Given the description of an element on the screen output the (x, y) to click on. 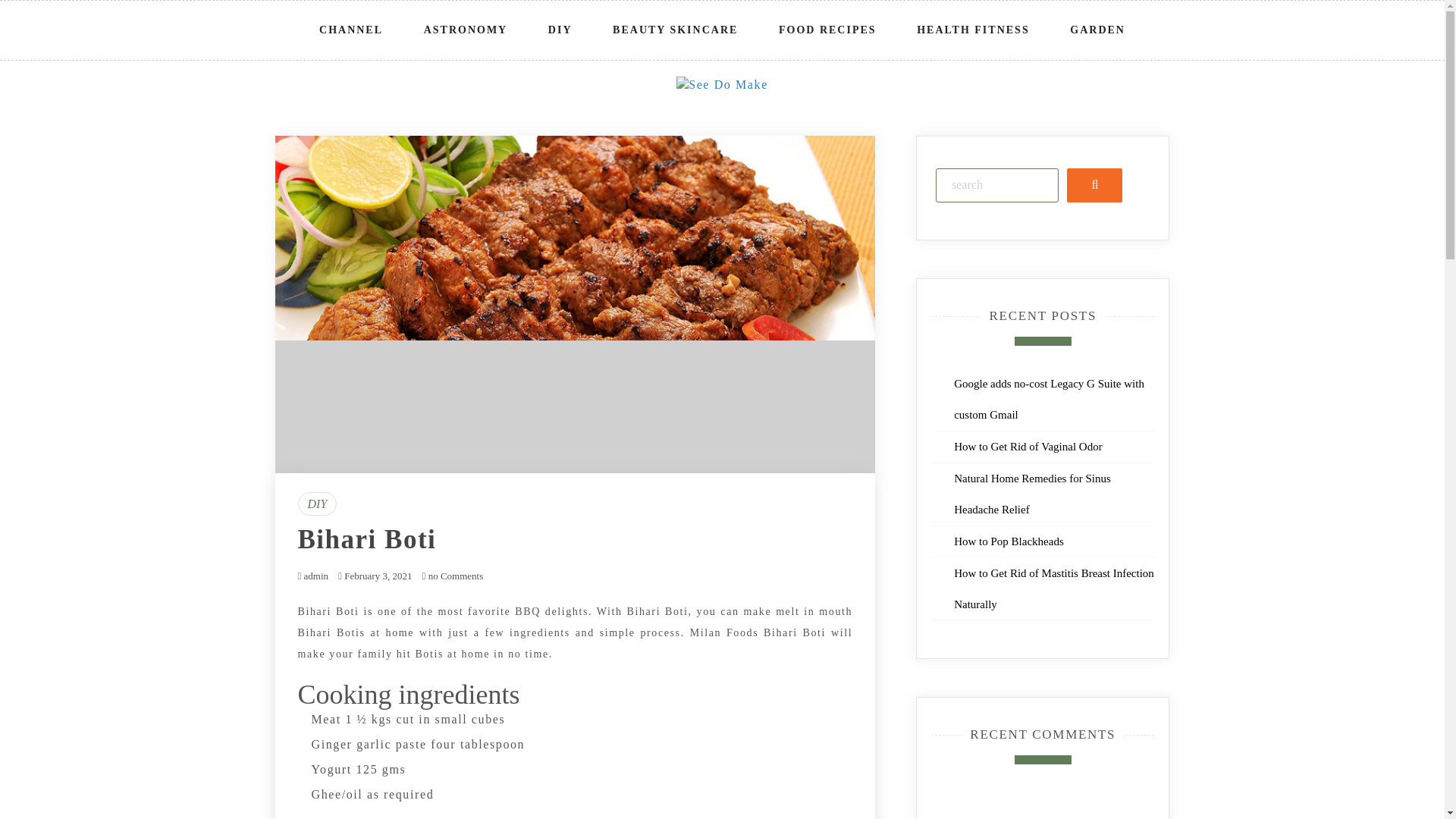
FOOD RECIPES (827, 29)
admin (315, 575)
How to Get Rid of Vaginal Odor (1027, 446)
GARDEN (1096, 29)
CHANNEL (351, 29)
BEAUTY SKINCARE (674, 29)
Posts by admin (315, 575)
DIY (316, 503)
Google adds no-cost Legacy G Suite with custom Gmail (1048, 398)
DIY (560, 29)
Bihari Boti (366, 539)
How to Get Rid of Mastitis Breast Infection Naturally (1053, 588)
How to Pop Blackheads (1008, 541)
Search (1094, 185)
HEALTH FITNESS (972, 29)
